Given the description of an element on the screen output the (x, y) to click on. 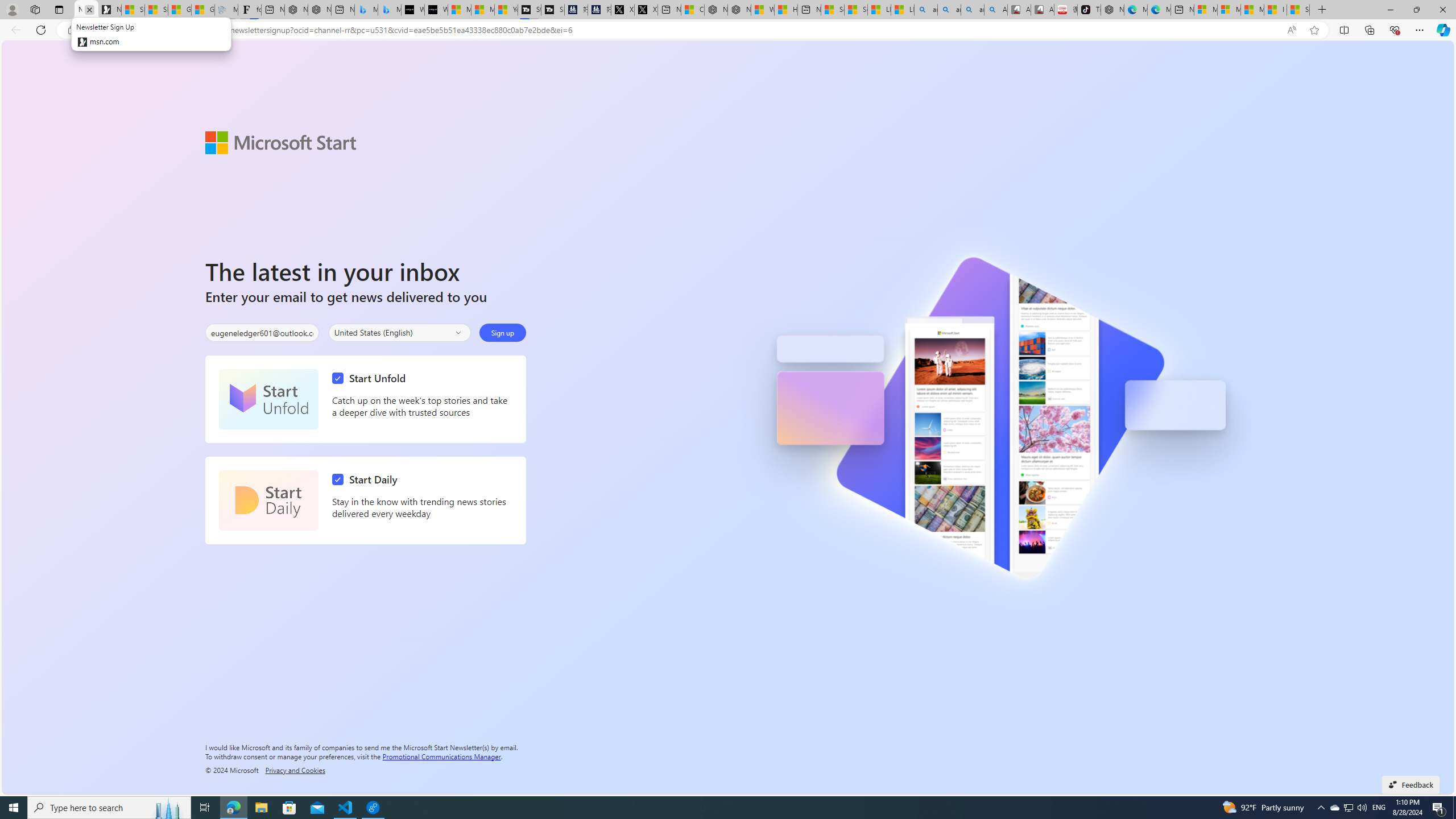
Start Unfold (371, 378)
Privacy and Cookies (294, 769)
Start Unfold (268, 399)
Start Daily (268, 500)
